Given the description of an element on the screen output the (x, y) to click on. 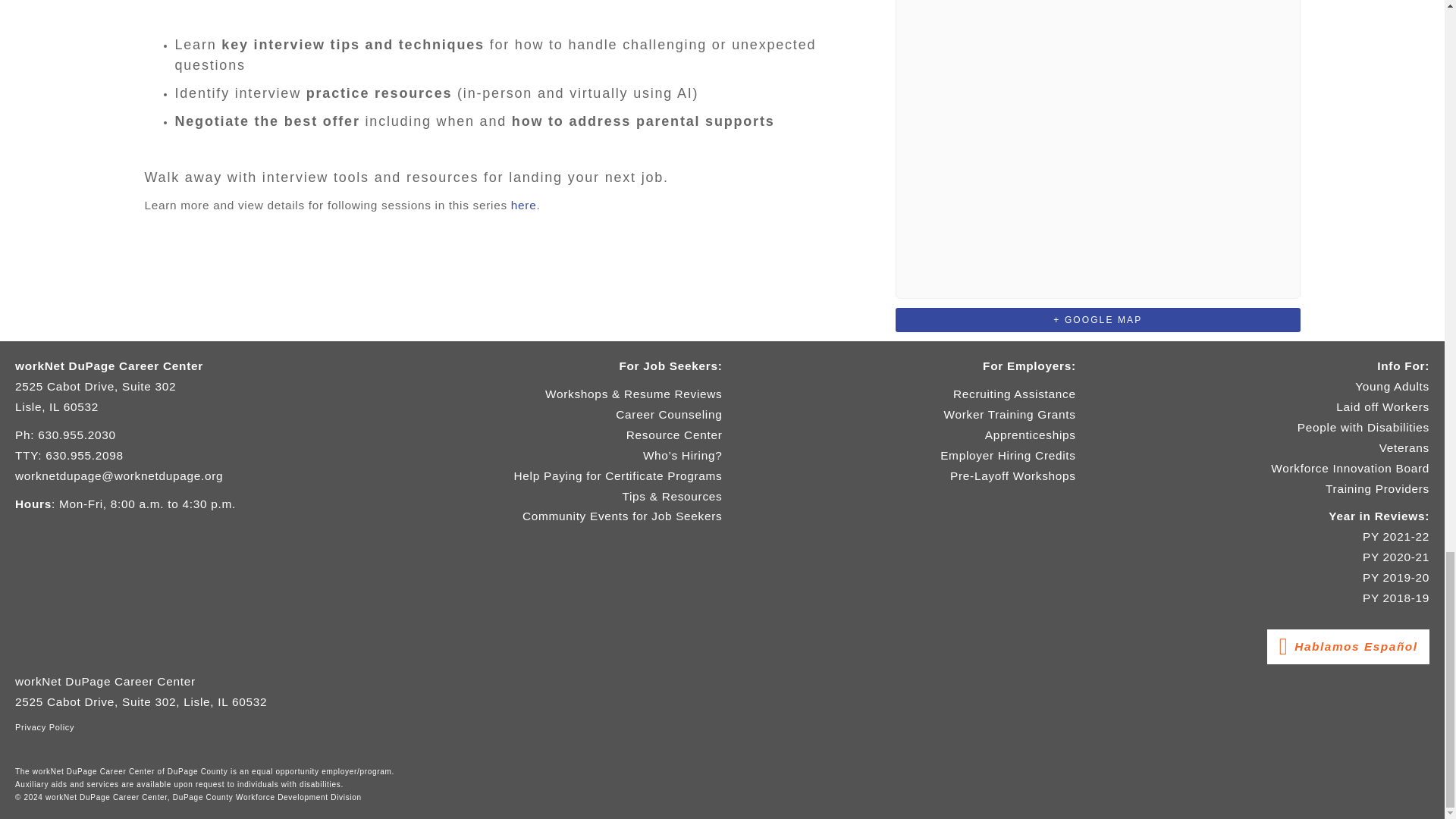
Click to view a Google Map (1097, 319)
